Given the description of an element on the screen output the (x, y) to click on. 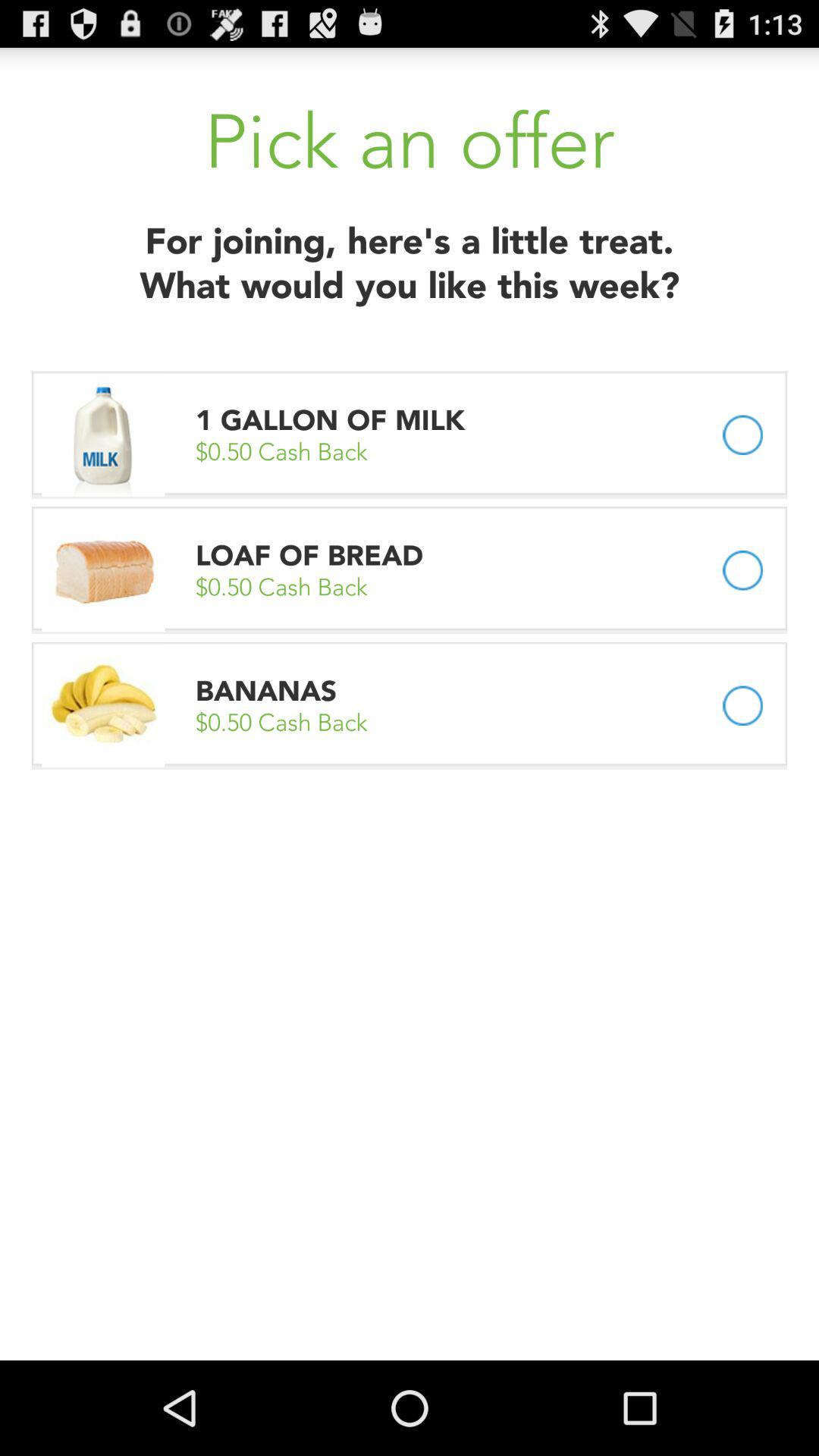
open 1 gallon of (334, 420)
